Given the description of an element on the screen output the (x, y) to click on. 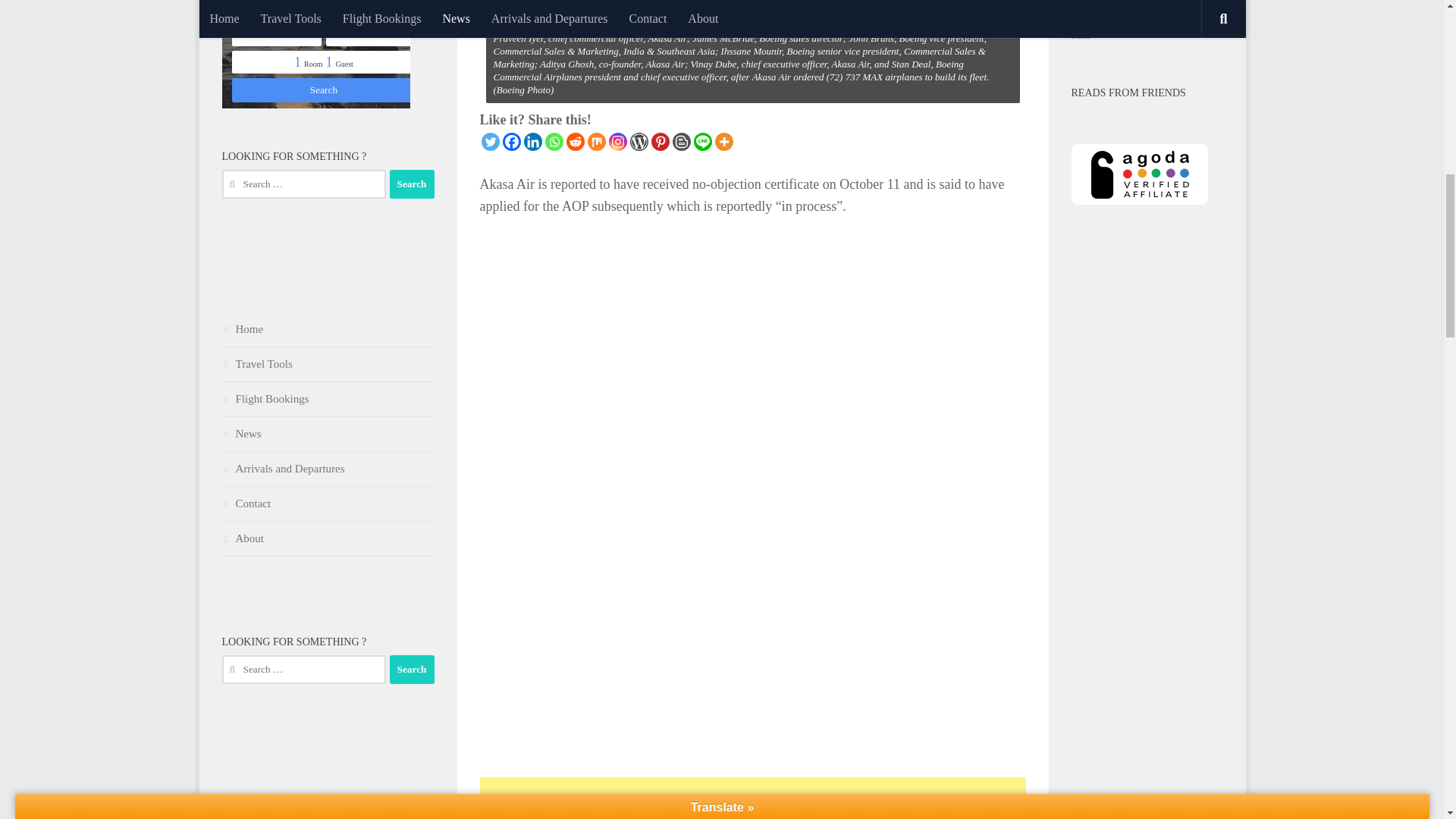
Facebook (510, 141)
Search (411, 669)
Linkedin (531, 141)
Reddit (574, 141)
Twitter (489, 141)
Mix (595, 141)
Search (411, 184)
Whatsapp (553, 141)
Search (411, 669)
Instagram (617, 141)
